Given the description of an element on the screen output the (x, y) to click on. 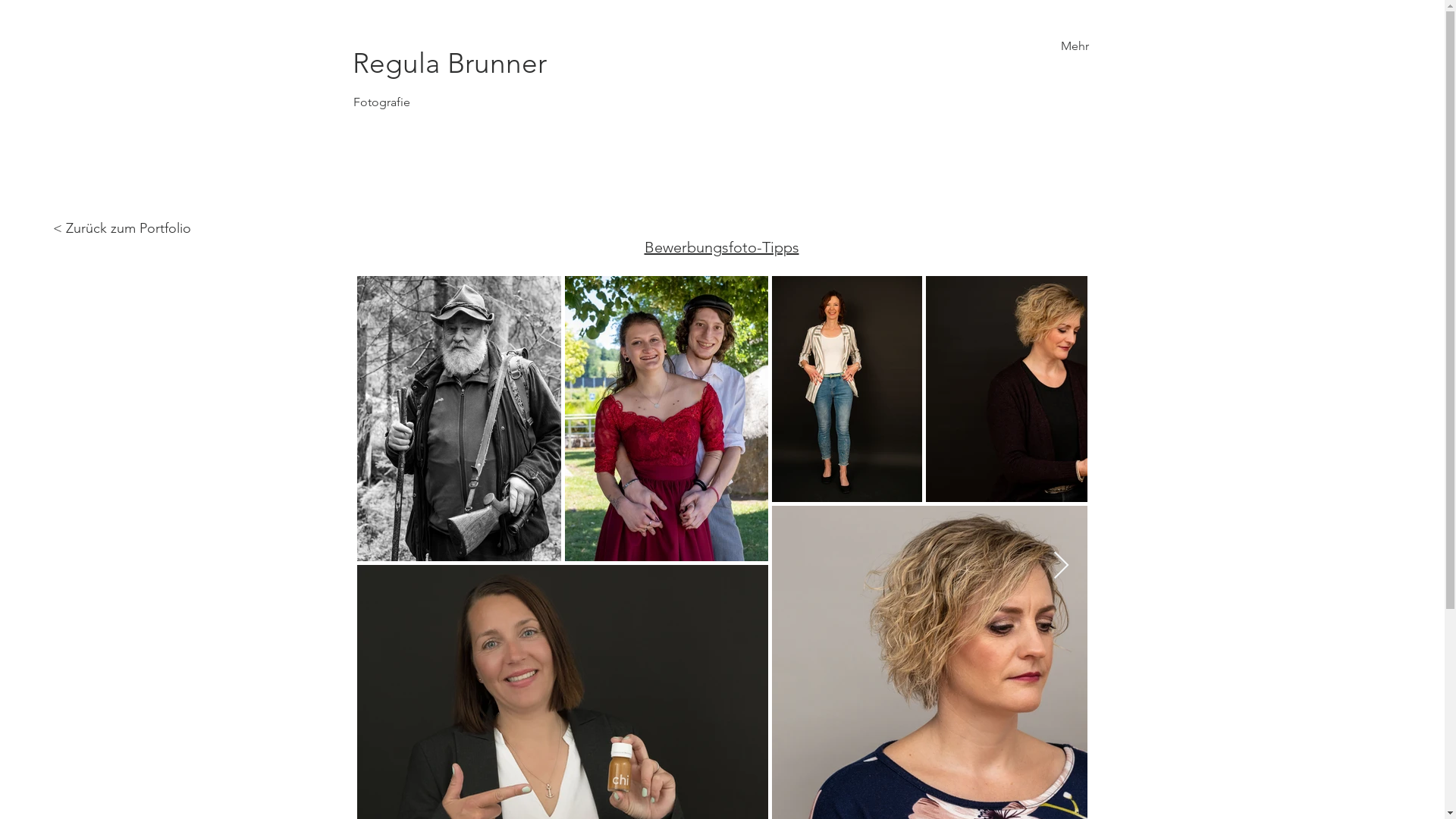
Regula Brunner Element type: text (469, 63)
Bewerbungsfoto-Tipps Element type: text (721, 247)
